Given the description of an element on the screen output the (x, y) to click on. 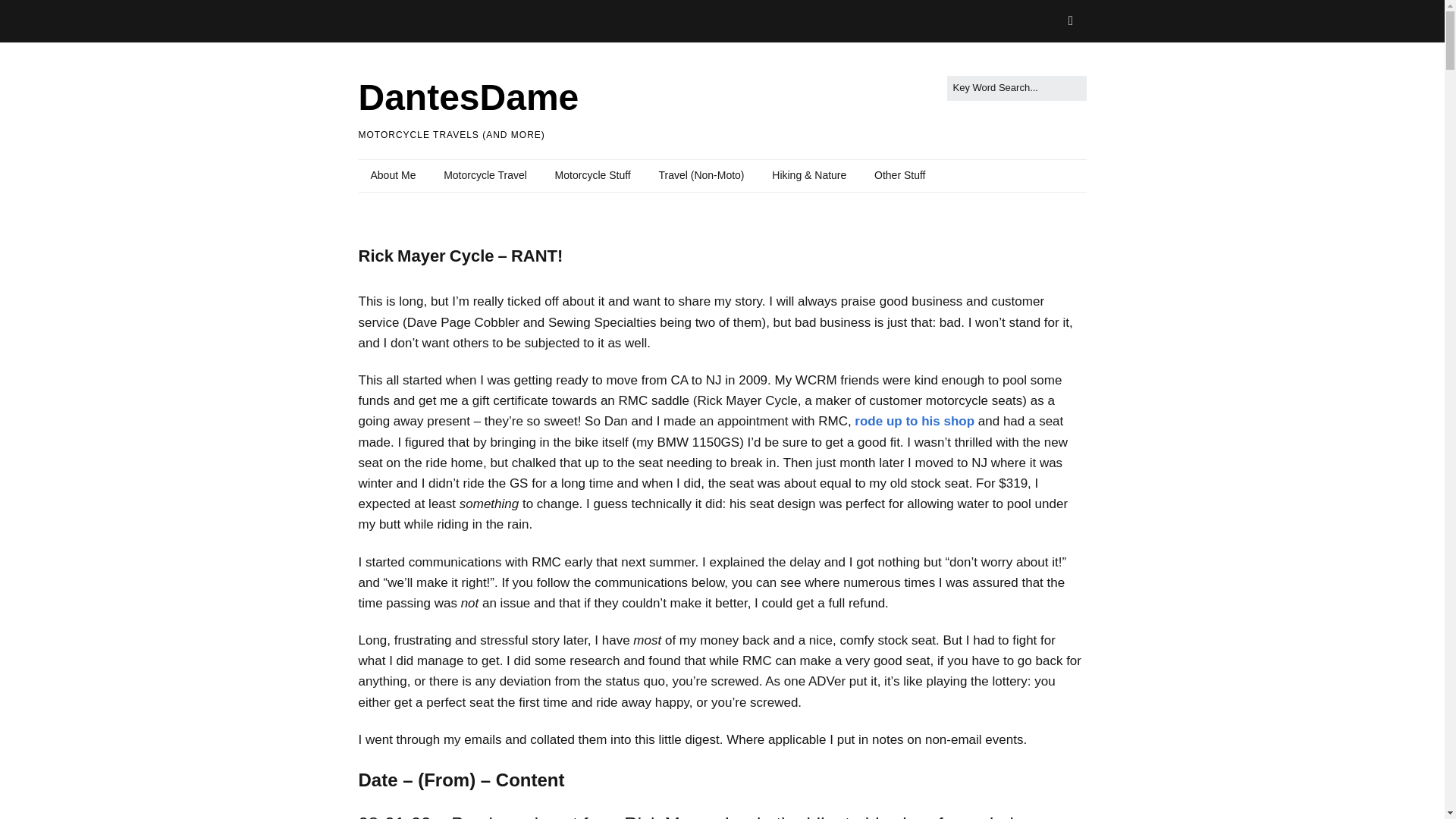
Motorcycle Travel (484, 175)
Press Enter to submit your search (1016, 88)
About Me (393, 175)
Other Stuff (899, 175)
rode up to his shop (914, 421)
Motorcycle Stuff (593, 175)
DantesDame (468, 96)
Search (29, 15)
